Given the description of an element on the screen output the (x, y) to click on. 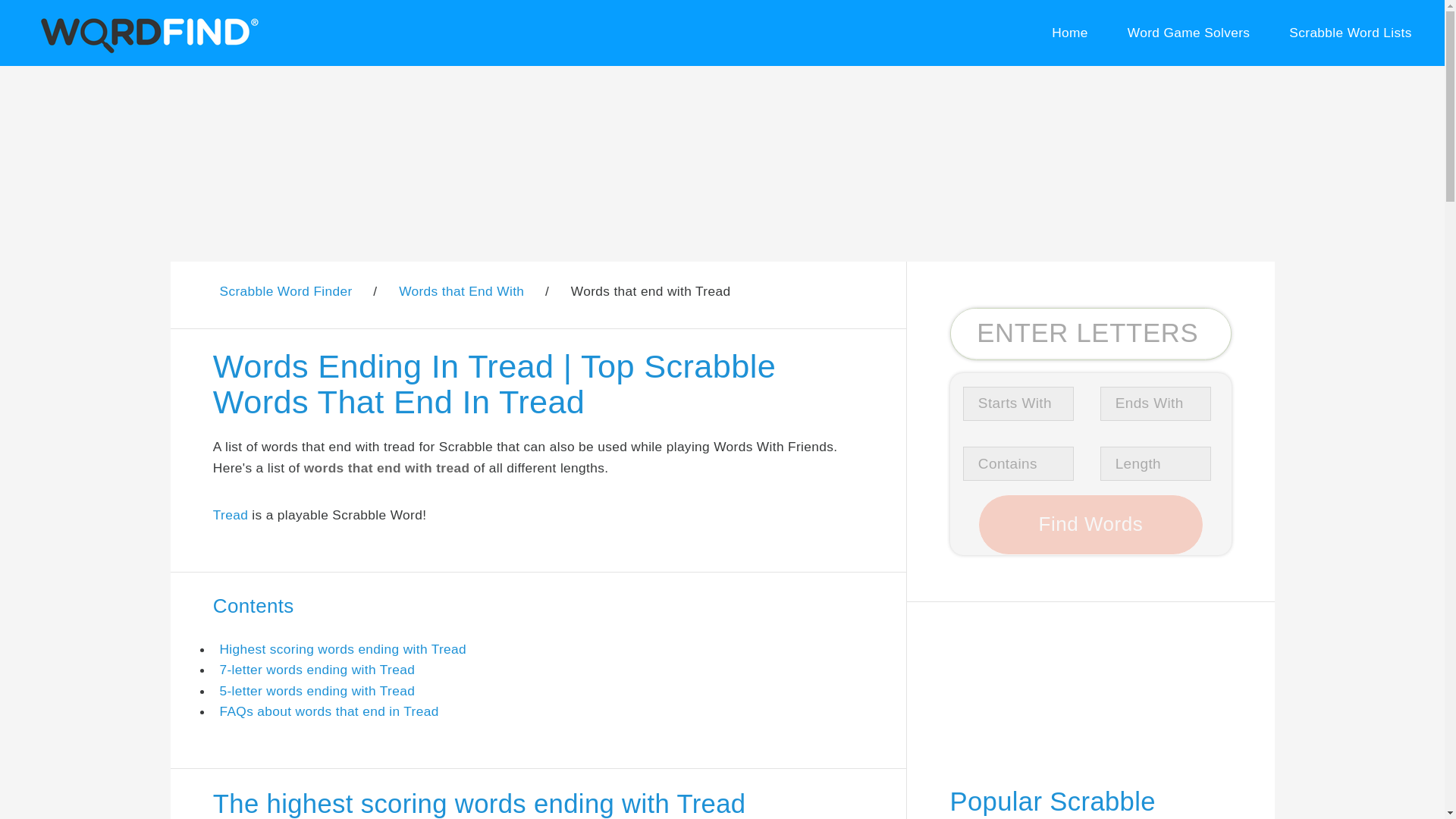
Return Home to Wordfind.com (146, 50)
wordfind.com logo (146, 32)
Scrabble Word Finder (285, 290)
Word Game Solvers (1187, 33)
FAQs about words that end in Tread (328, 711)
Return Home (1069, 33)
7-letter words ending with Tread (316, 669)
5-letter words ending with Tread (316, 690)
Word Game Solvers menu (1187, 33)
Words that End With (461, 290)
